Given the description of an element on the screen output the (x, y) to click on. 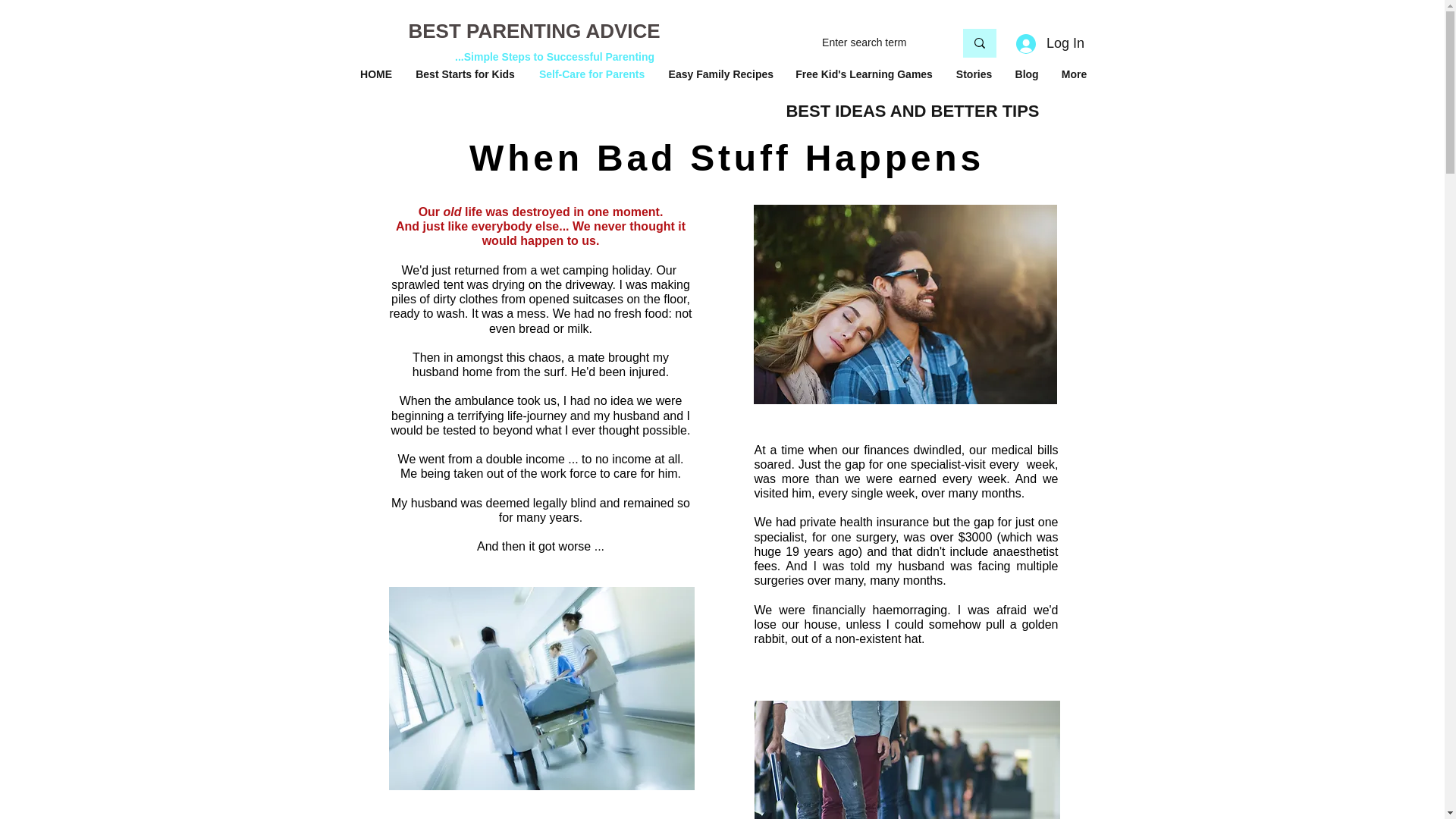
Best Starts for Kids (465, 74)
HOME (376, 74)
Self-Care for Parents (592, 74)
Easy Family Recipes (721, 74)
Free Kid's Learning Games (864, 74)
Log In (1050, 42)
